Given the description of an element on the screen output the (x, y) to click on. 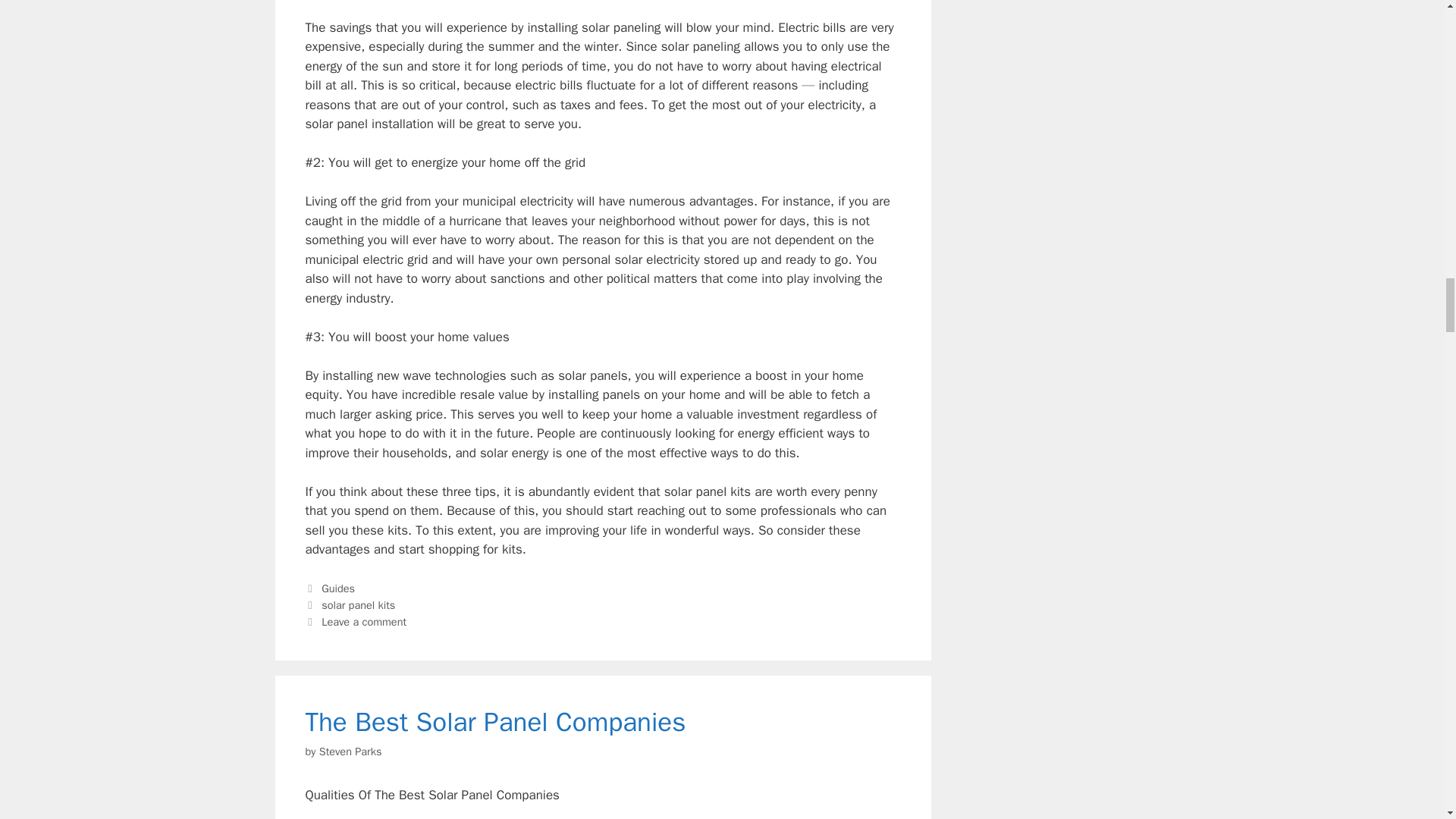
solar panel kits (357, 604)
Leave a comment (363, 621)
Steven Parks (349, 751)
The Best Solar Panel Companies (494, 721)
Guides (338, 588)
View all posts by Steven Parks (349, 751)
